Given the description of an element on the screen output the (x, y) to click on. 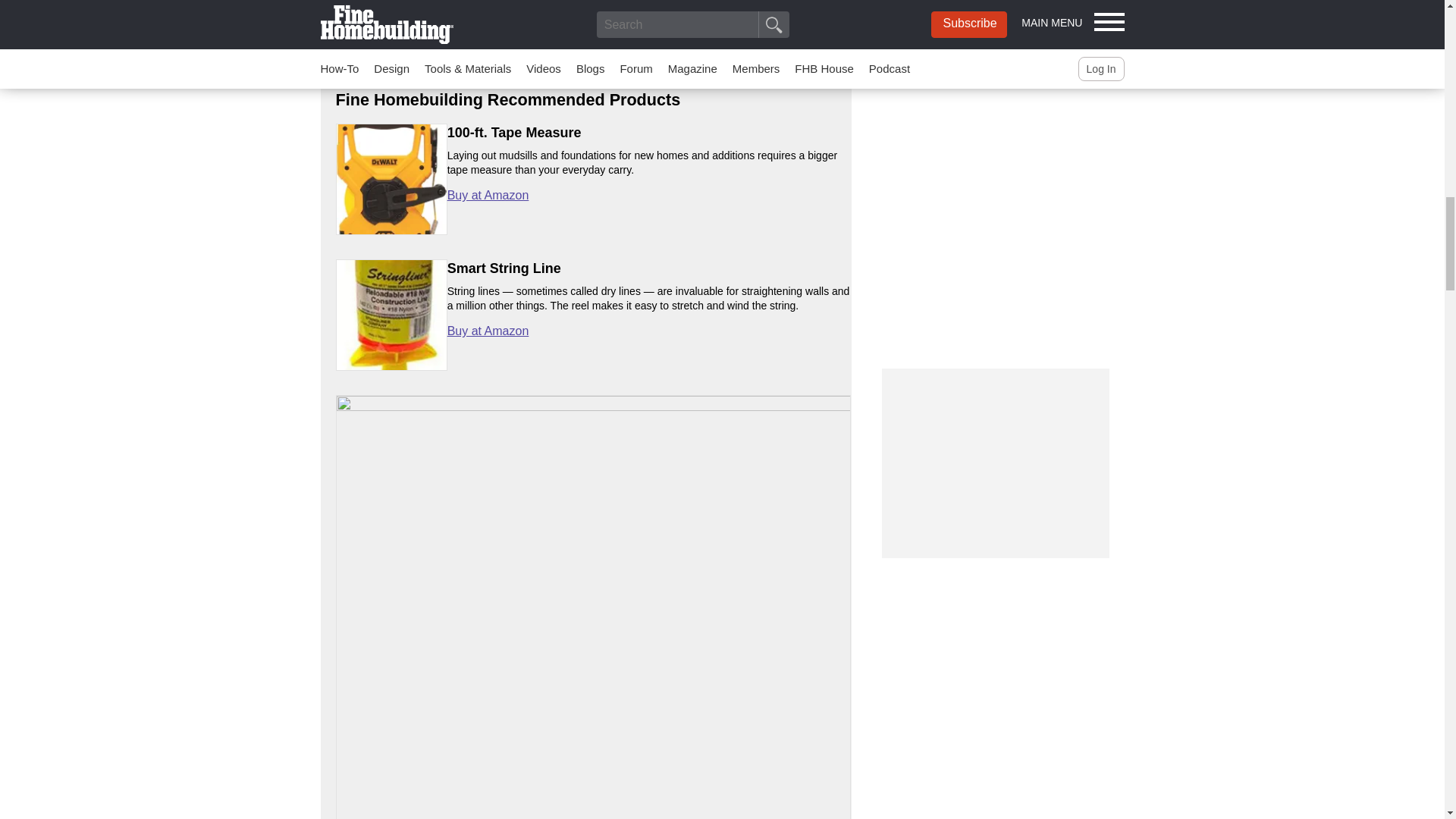
Buy at Amazon (487, 330)
Buy at Amazon (487, 195)
